Given the description of an element on the screen output the (x, y) to click on. 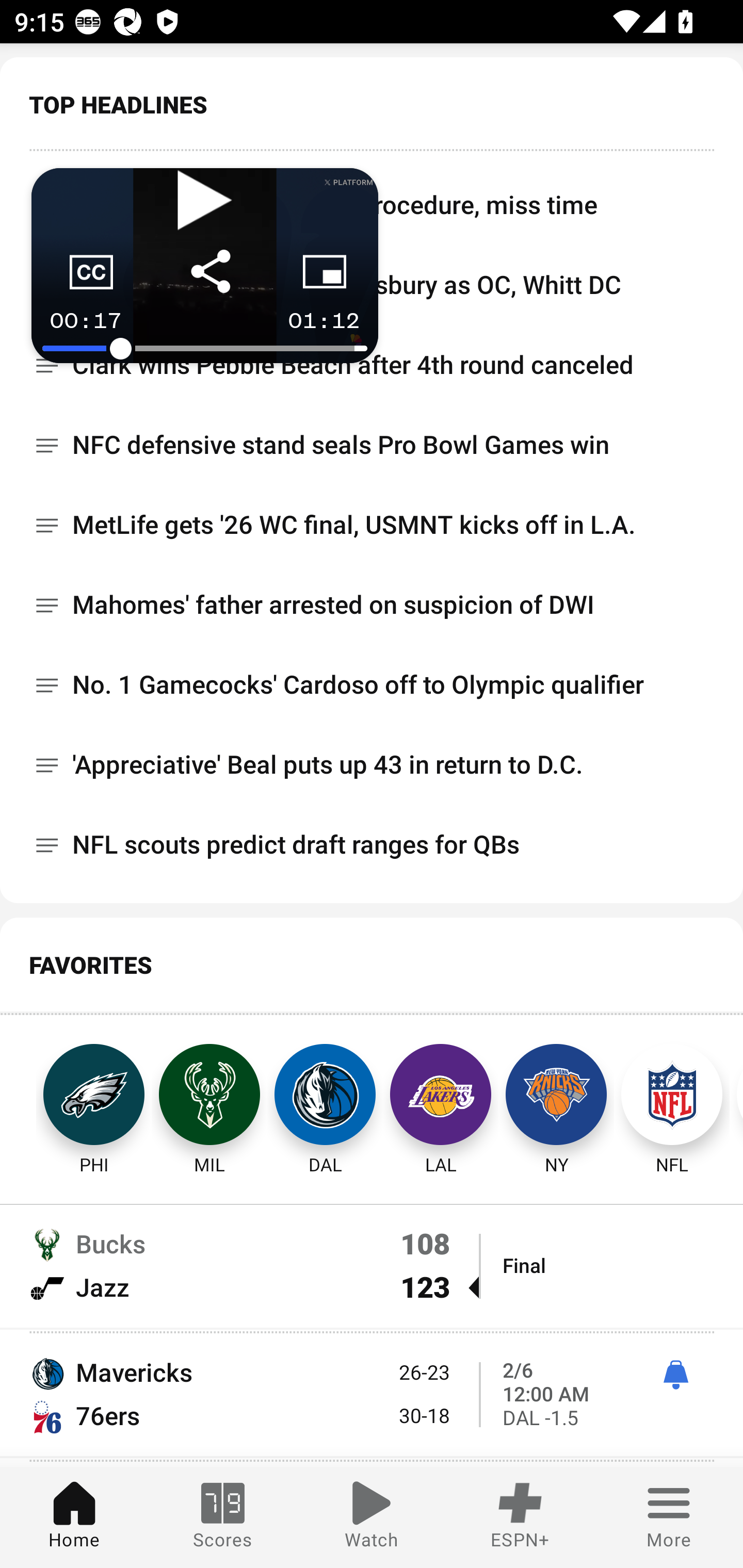
 Clark wins Pebble Beach after 4th round canceled (371, 366)
 NFC defensive stand seals Pro Bowl Games win (371, 446)
 Mahomes' father arrested on suspicion of DWI (371, 606)
 'Appreciative' Beal puts up 43 in return to D.C. (371, 764)
 NFL scouts predict draft ranges for QBs (371, 844)
PHI Philadelphia Eagles (75, 1095)
MIL Milwaukee Bucks (209, 1095)
DAL Dallas Mavericks (324, 1095)
LAL Los Angeles Lakers (440, 1095)
NY New York Knicks (555, 1095)
NFL (671, 1095)
Bucks 108 Jazz 123  Final (371, 1266)
ì (675, 1375)
Scores (222, 1517)
Watch (371, 1517)
ESPN+ (519, 1517)
More (668, 1517)
